Given the description of an element on the screen output the (x, y) to click on. 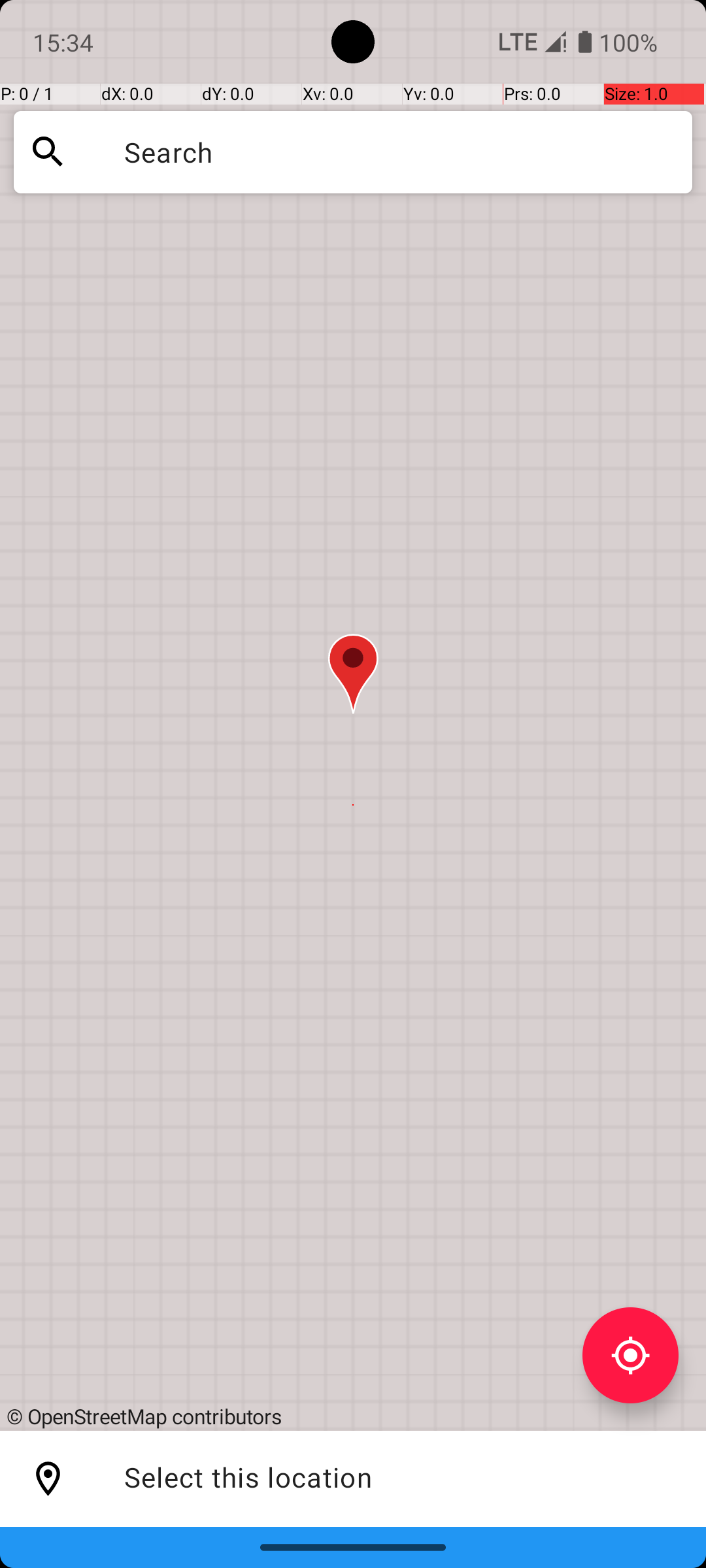
Select this location Element type: android.widget.ImageView (47, 1478)
